Given the description of an element on the screen output the (x, y) to click on. 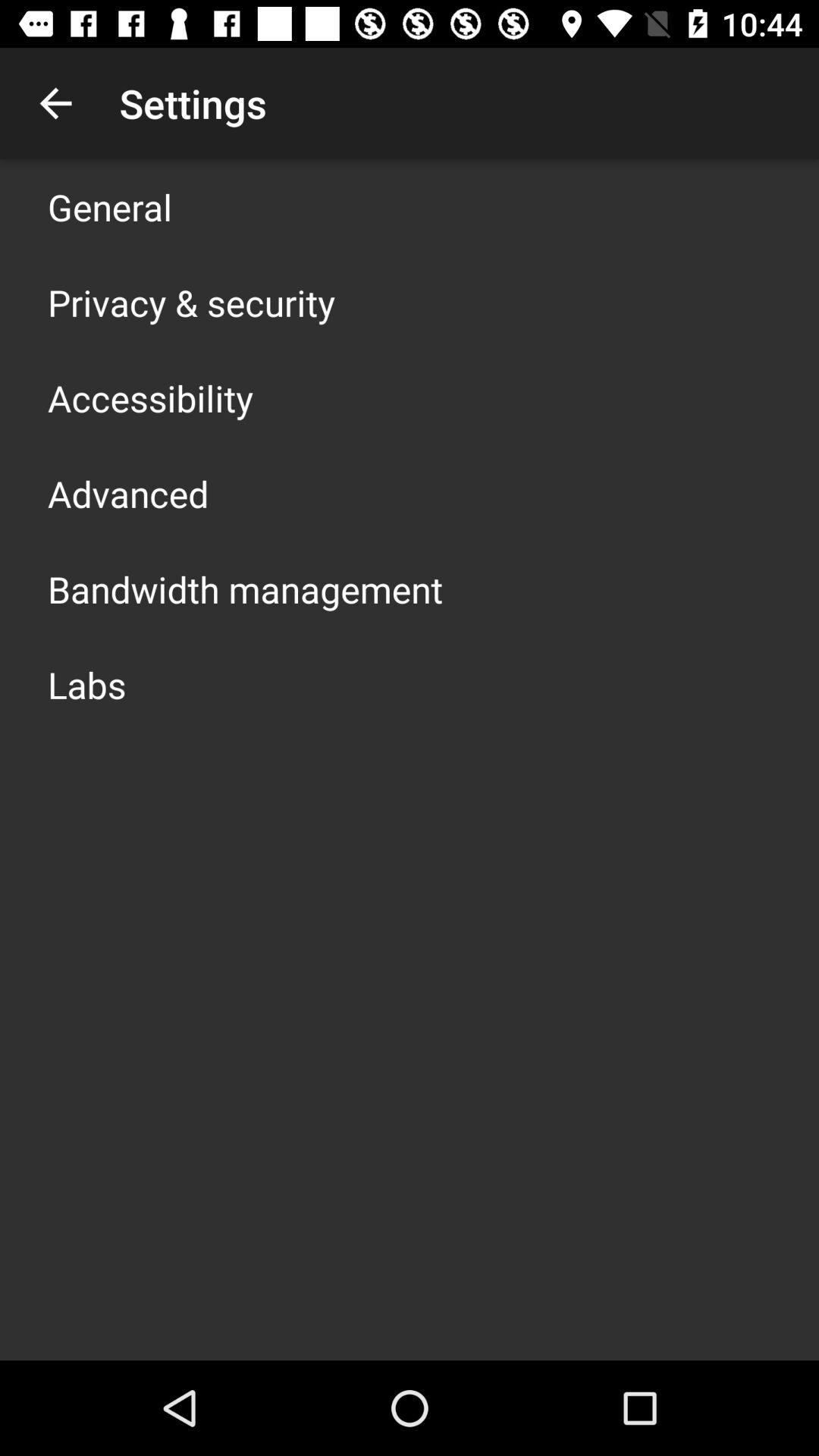
flip until the labs app (86, 684)
